Given the description of an element on the screen output the (x, y) to click on. 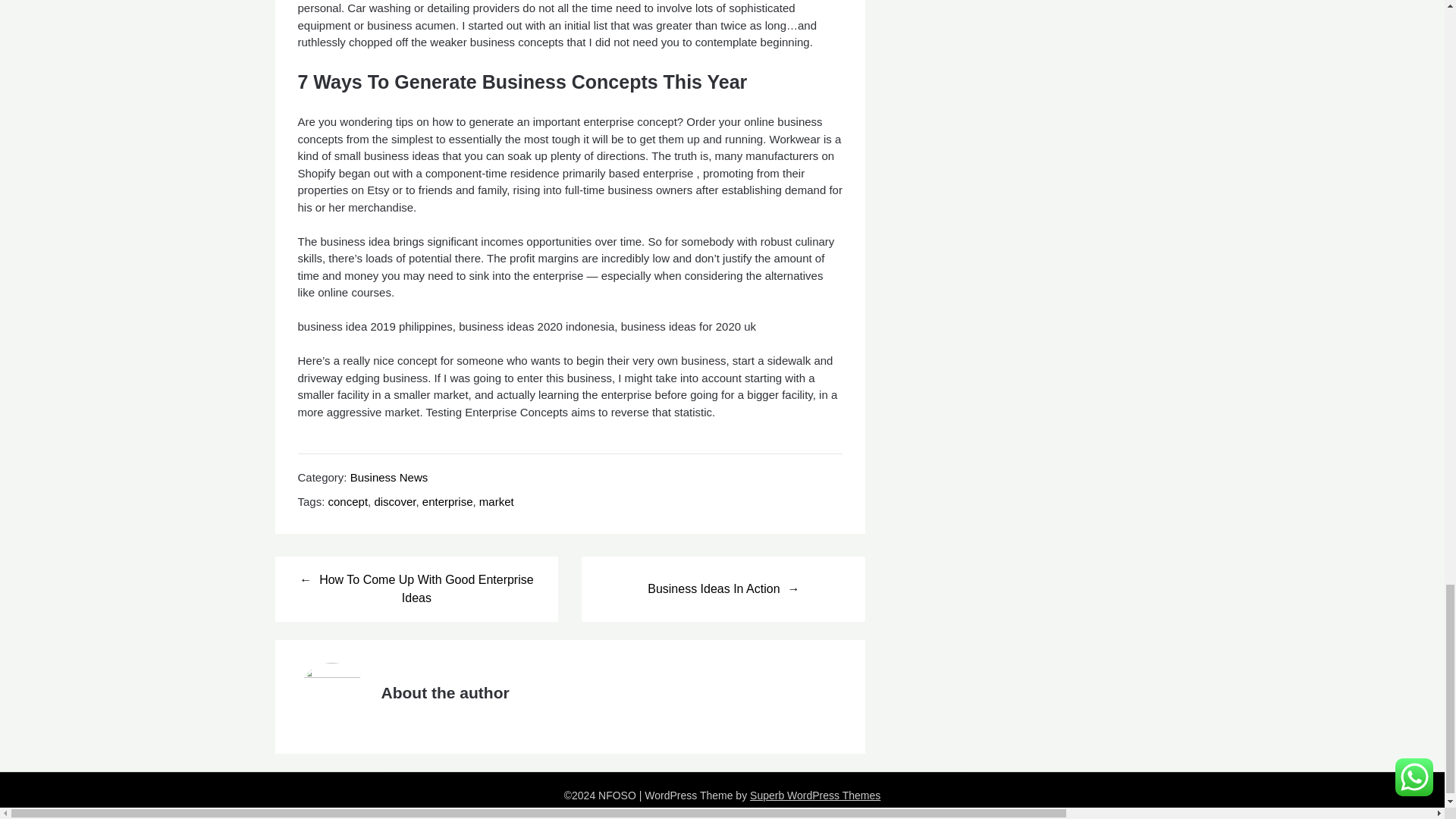
How To Come Up With Good Enterprise Ideas (416, 588)
Business Ideas In Action (722, 588)
Business News (389, 476)
enterprise (447, 501)
market (496, 501)
concept (348, 501)
discover (394, 501)
